Given the description of an element on the screen output the (x, y) to click on. 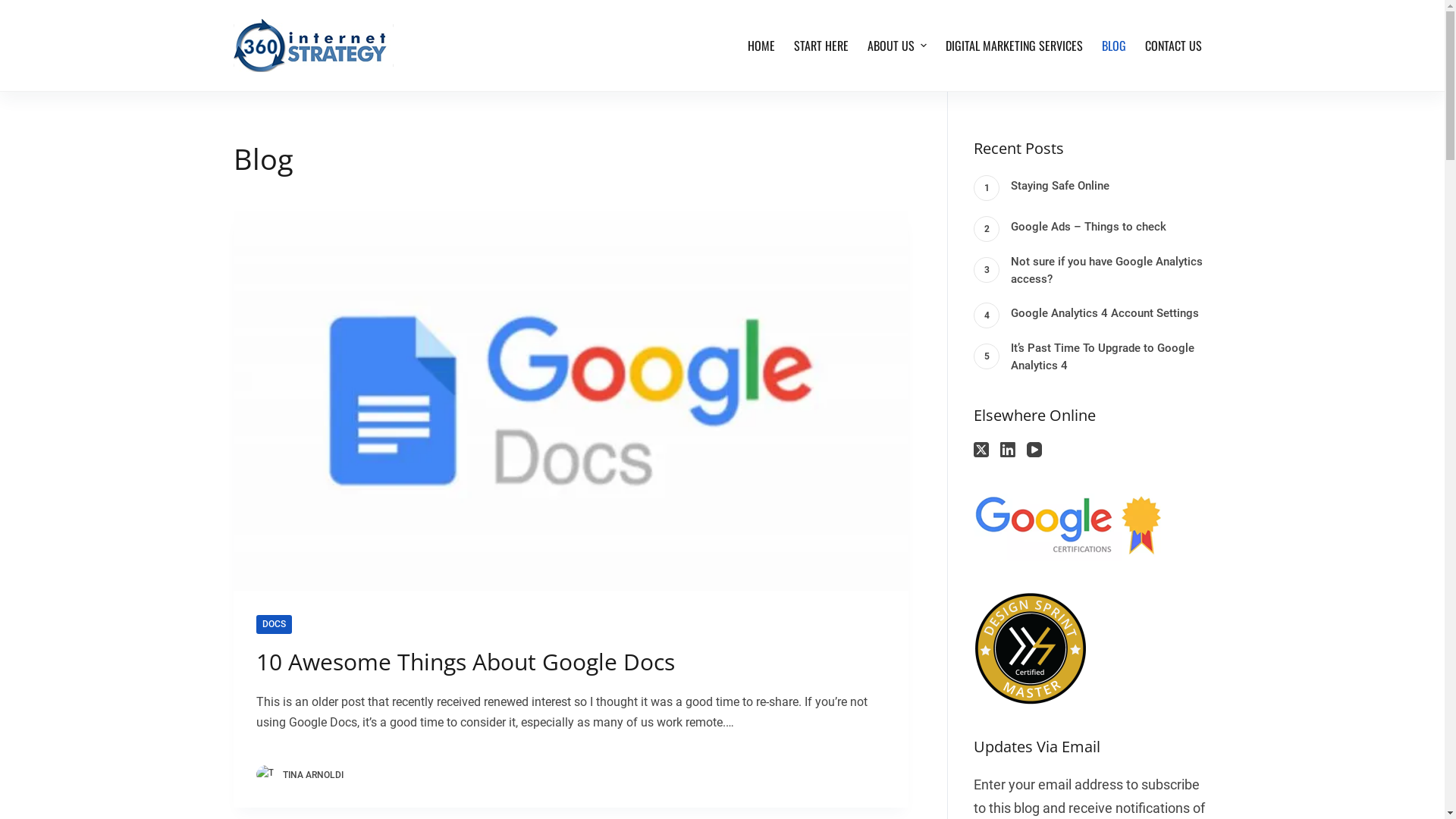
10 Awesome Things About Google Docs Element type: hover (1068, 524)
Skip to content Element type: text (15, 7)
DIGITAL MARKETING SERVICES Element type: text (1013, 45)
10 Awesome Things About Google Docs Element type: hover (570, 400)
DOCS Element type: text (273, 624)
BLOG Element type: text (1113, 45)
Staying Safe Online Element type: text (1092, 187)
TINA ARNOLDI Element type: text (312, 774)
Google Analytics 4 Account Settings Element type: text (1092, 315)
HOME Element type: text (760, 45)
10 Awesome Things About Google Docs Element type: hover (1030, 648)
START HERE Element type: text (820, 45)
10 Awesome Things About Google Docs Element type: hover (313, 45)
CONTACT US Element type: text (1173, 45)
10 Awesome Things About Google Docs Element type: text (465, 661)
ABOUT US Element type: text (896, 45)
Not sure if you have Google Analytics access? Element type: text (1092, 272)
